Given the description of an element on the screen output the (x, y) to click on. 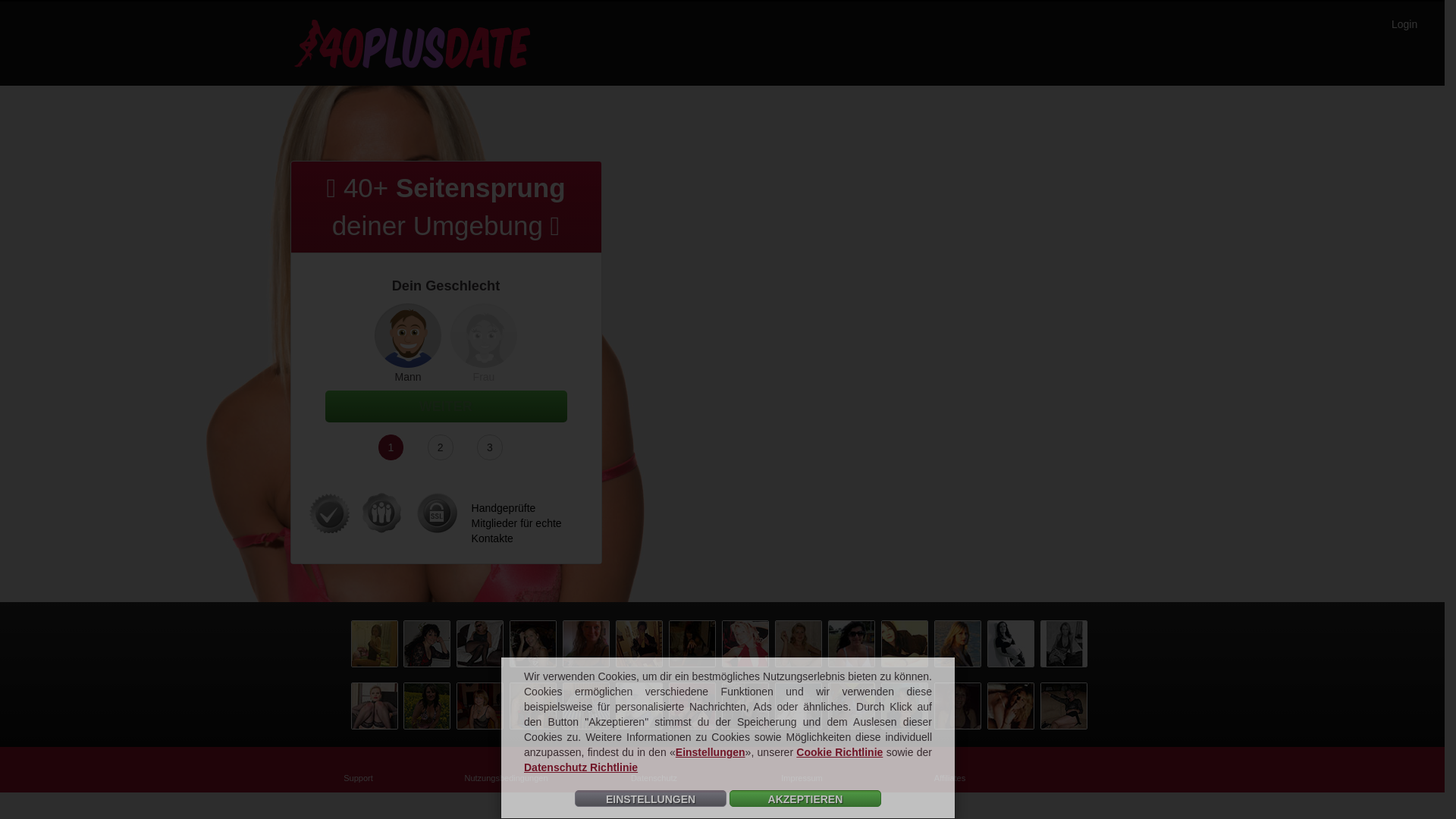
Datenschutz Element type: text (653, 777)
Impressum Element type: text (801, 777)
Affiliates Element type: text (949, 777)
2 Element type: text (440, 447)
Datenschutz Richtlinie Element type: text (580, 767)
Cookie Richtlinie Element type: text (839, 752)
Login Element type: text (1404, 23)
Support Element type: text (358, 777)
1 Element type: text (391, 447)
3 Element type: text (489, 447)
Nutzungsbedingungen Element type: text (505, 777)
Einstellungen Element type: text (710, 752)
Weiter Element type: text (132, 15)
WEITER Element type: text (445, 406)
